Given the description of an element on the screen output the (x, y) to click on. 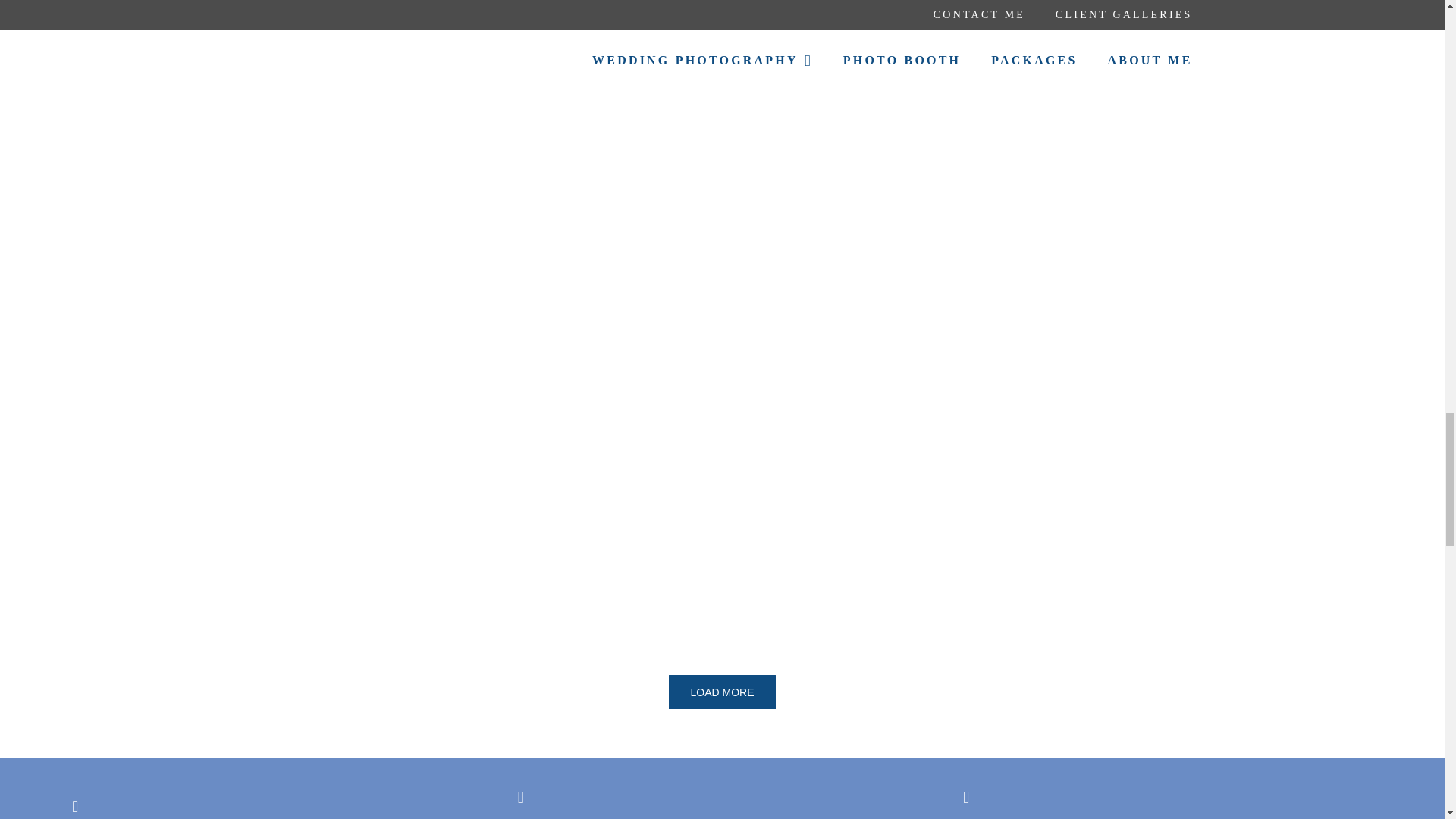
LOAD MORE (722, 691)
